Given the description of an element on the screen output the (x, y) to click on. 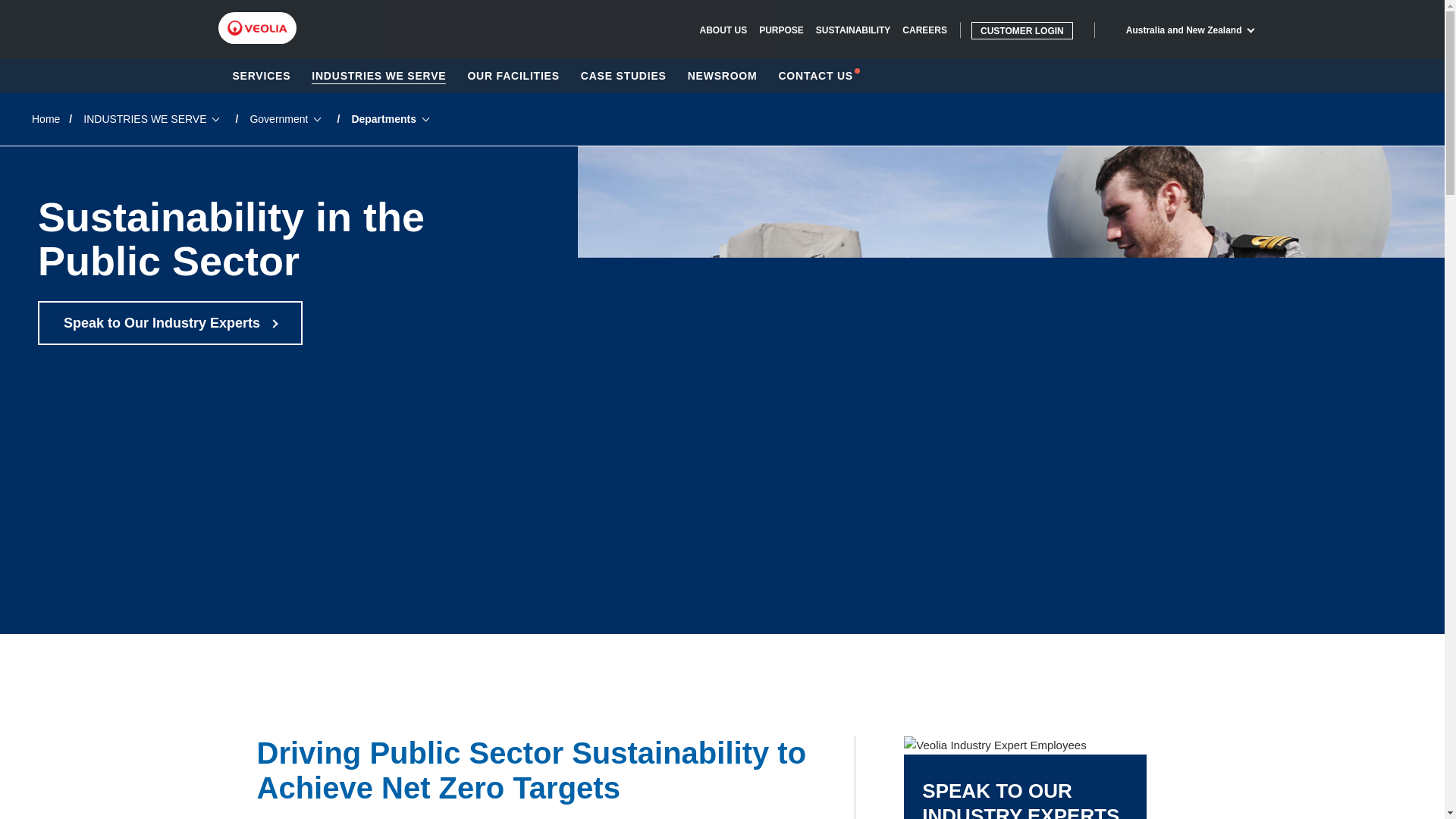
ABOUT US (722, 29)
CAREERS (924, 29)
PURPOSE (780, 29)
Veolia Australia and New Zealand (256, 28)
SUSTAINABILITY (852, 29)
ABOUT US (722, 29)
Purpose (780, 29)
